Given the description of an element on the screen output the (x, y) to click on. 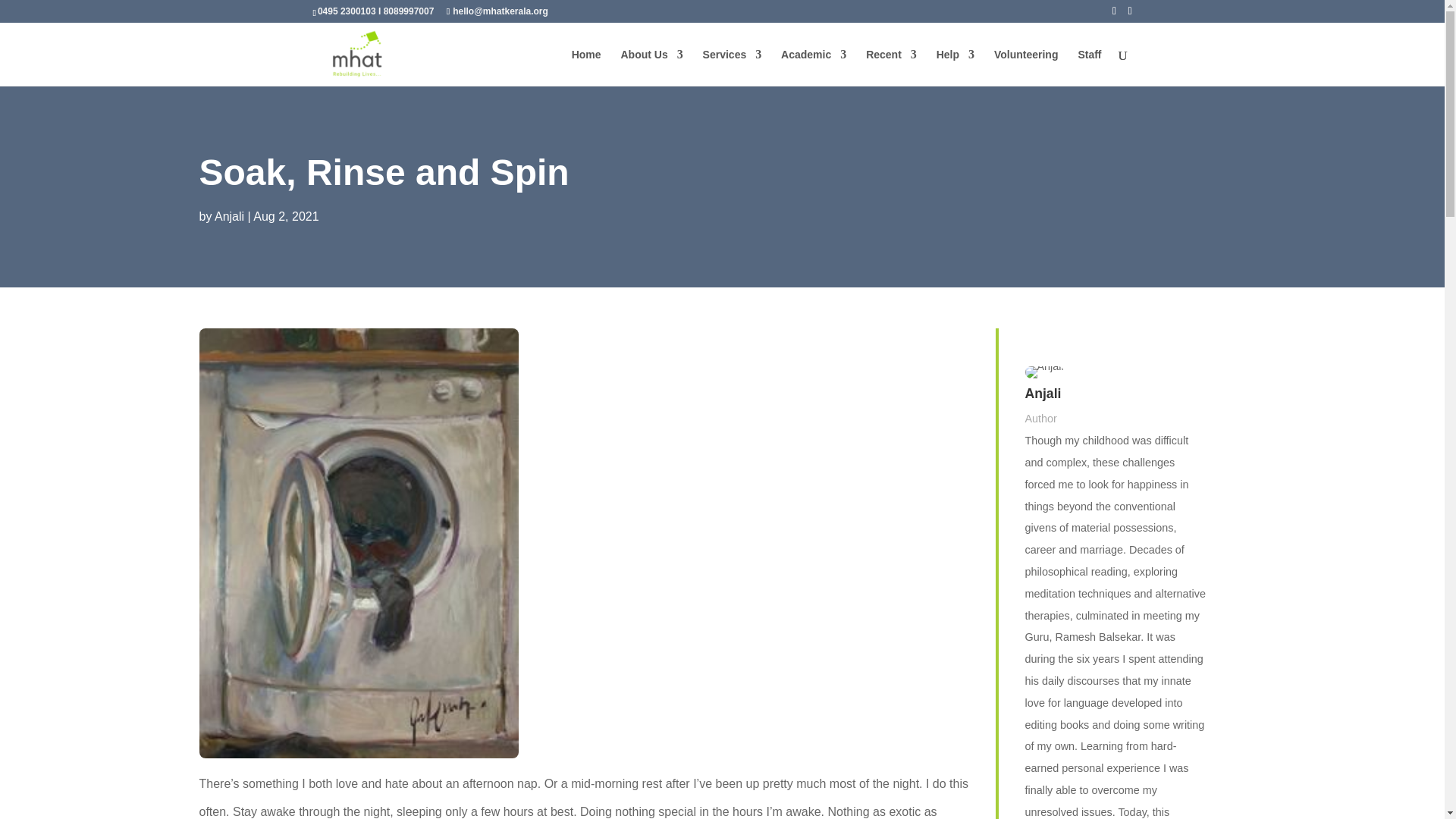
Volunteering (1026, 67)
Posts by Anjali (229, 215)
Recent (891, 67)
Services (732, 67)
Academic (812, 67)
Help (955, 67)
About Us (651, 67)
